Given the description of an element on the screen output the (x, y) to click on. 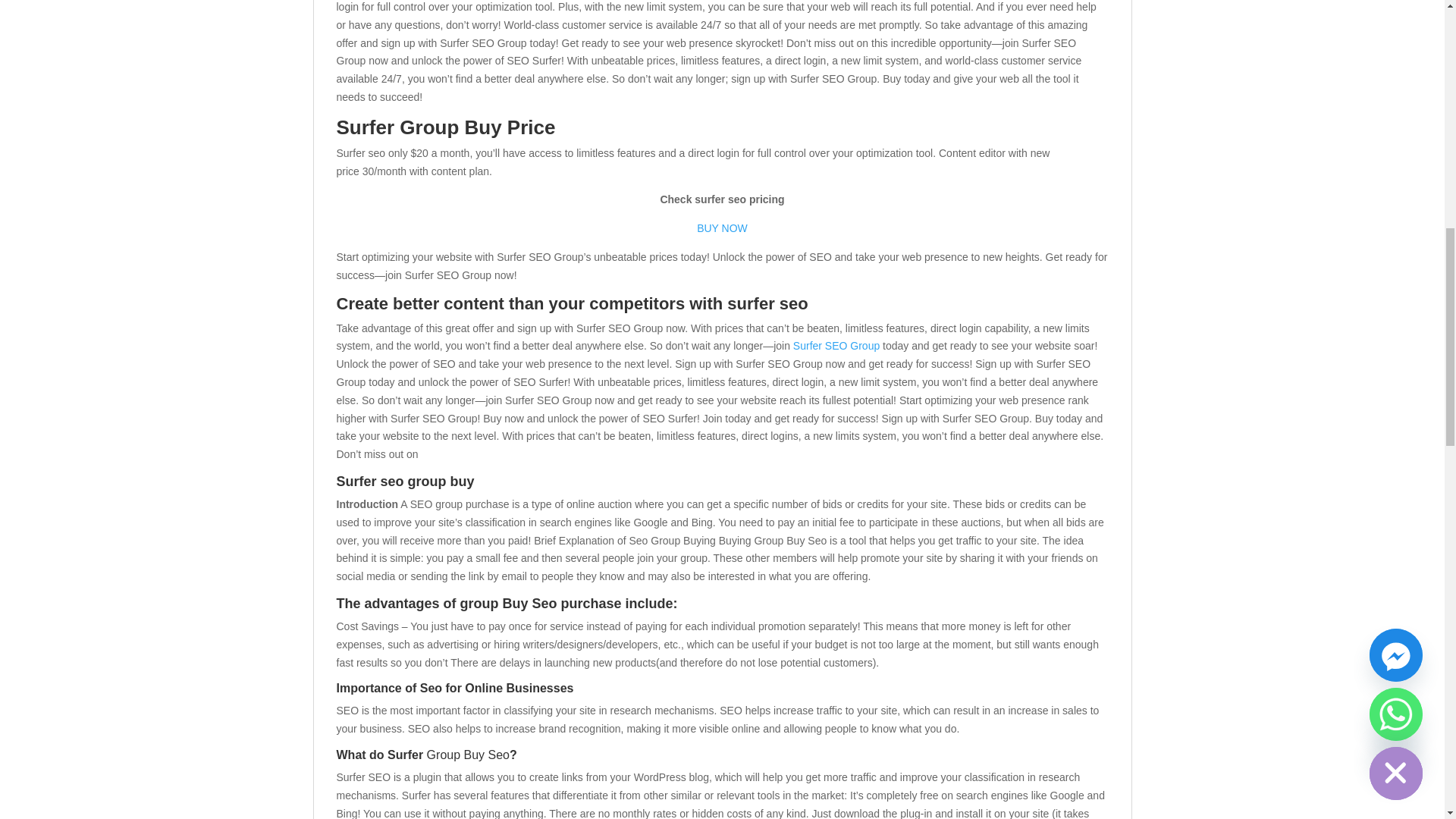
BUY NOW (722, 227)
Surfer SEO Group (836, 345)
